Given the description of an element on the screen output the (x, y) to click on. 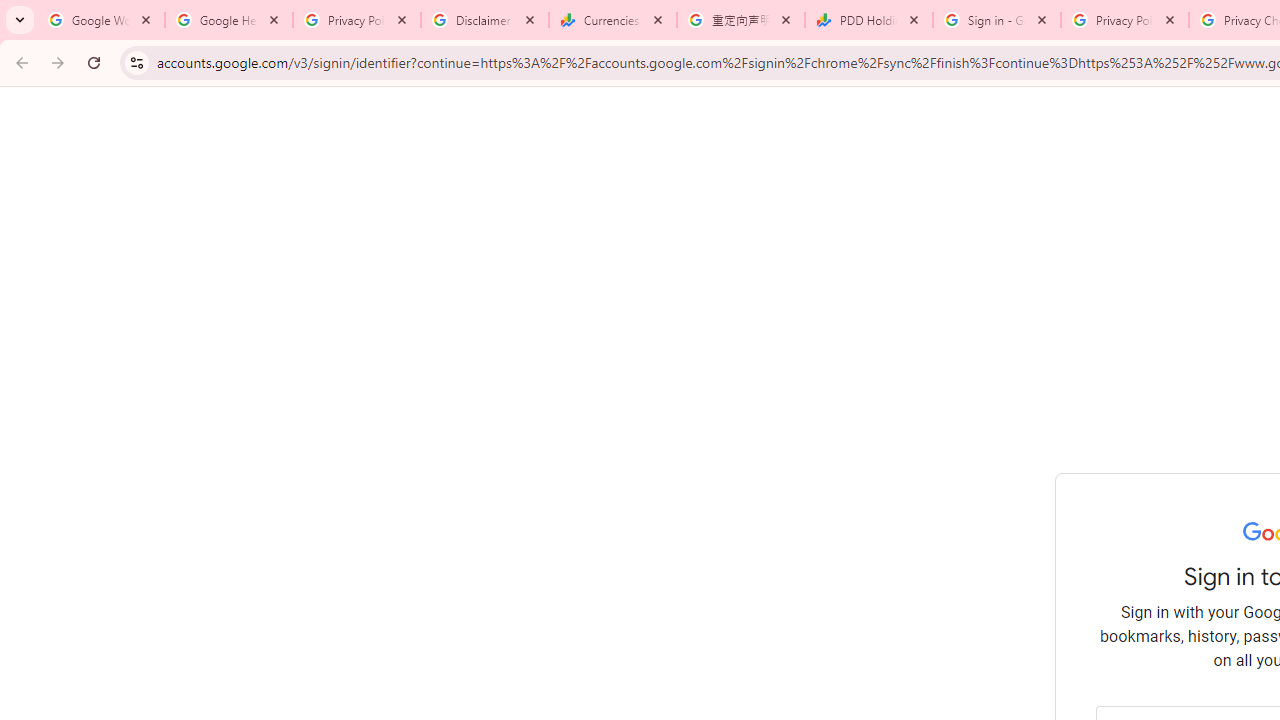
Sign in - Google Accounts (997, 20)
